Given the description of an element on the screen output the (x, y) to click on. 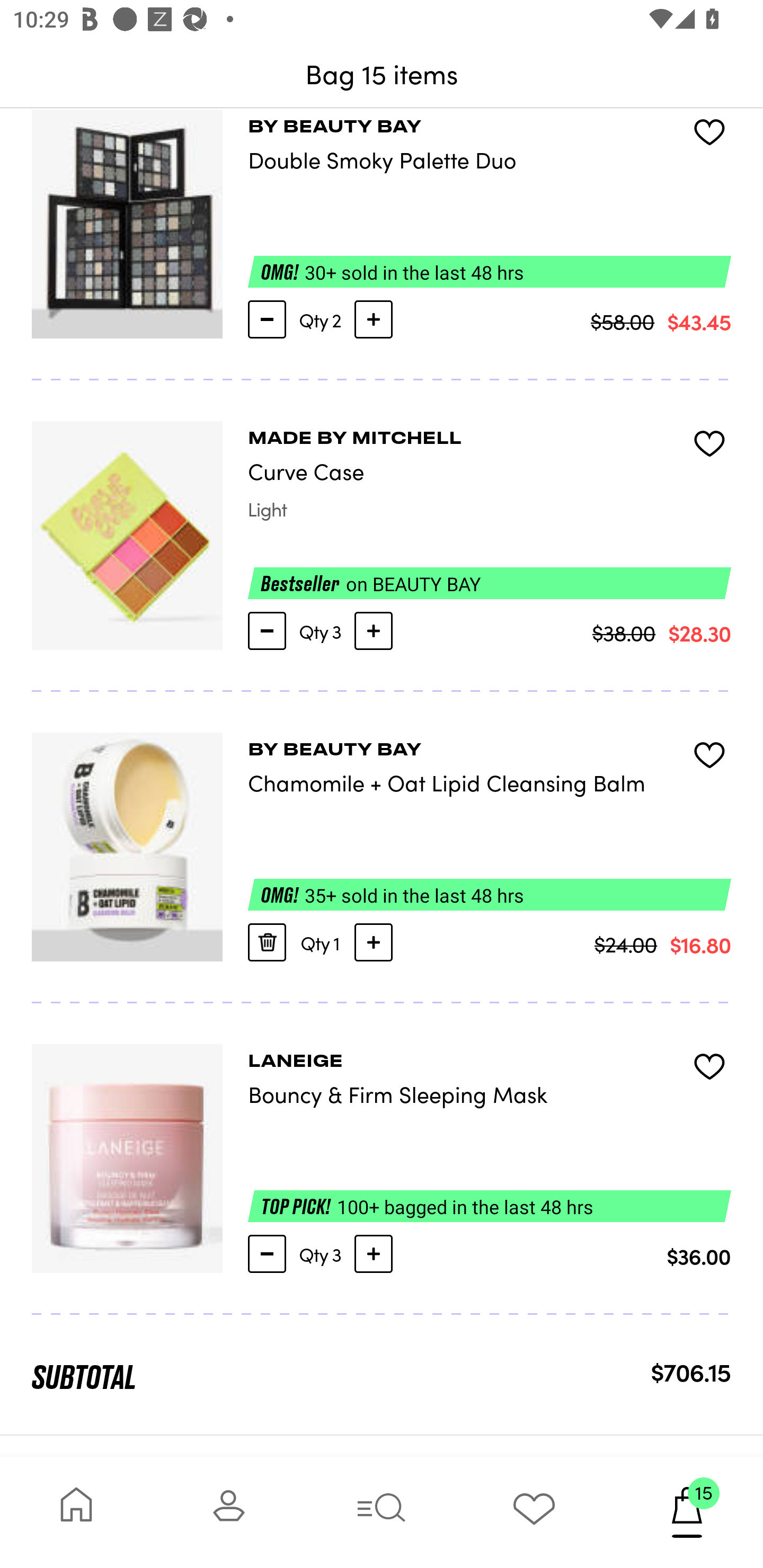
15 (686, 1512)
